Given the description of an element on the screen output the (x, y) to click on. 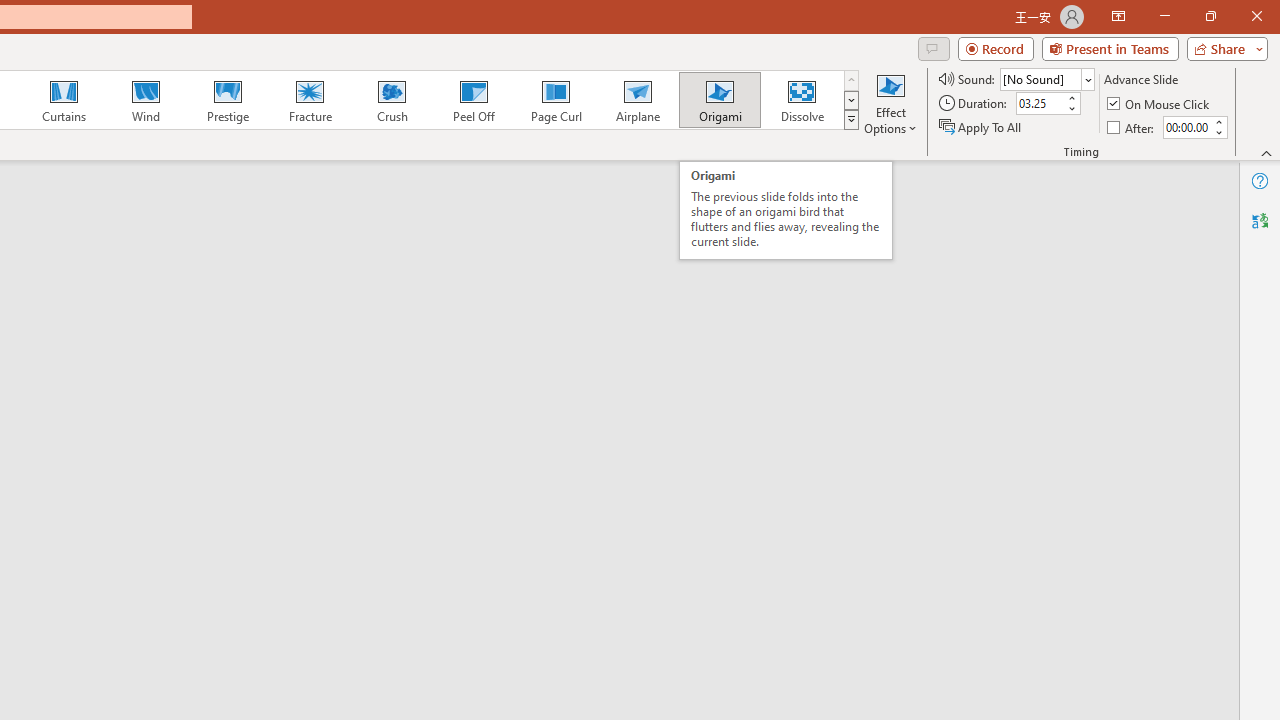
Wind (145, 100)
Less (1218, 132)
After (1131, 126)
Fracture (309, 100)
Origami (719, 100)
